Given the description of an element on the screen output the (x, y) to click on. 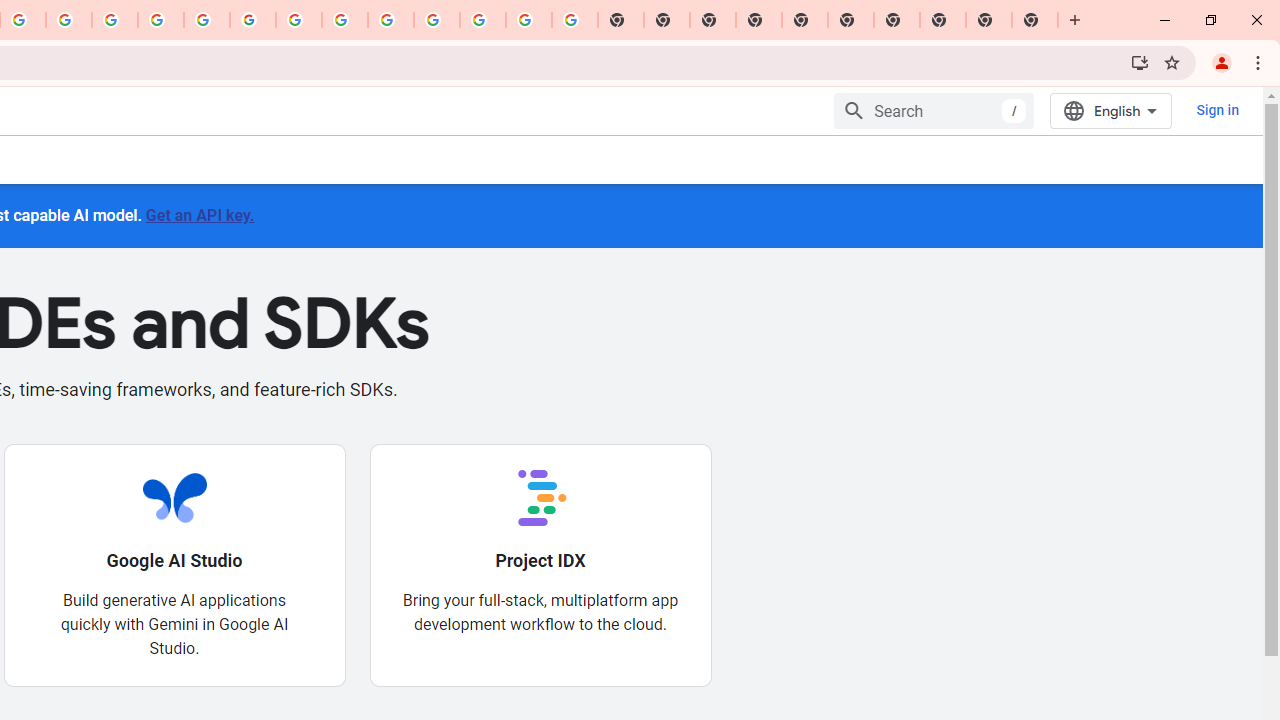
Privacy Help Center - Policies Help (161, 20)
Google AI Studio logo (174, 497)
Install Google Developers (1139, 62)
Privacy Help Center - Policies Help (115, 20)
New Tab (1035, 20)
